Given the description of an element on the screen output the (x, y) to click on. 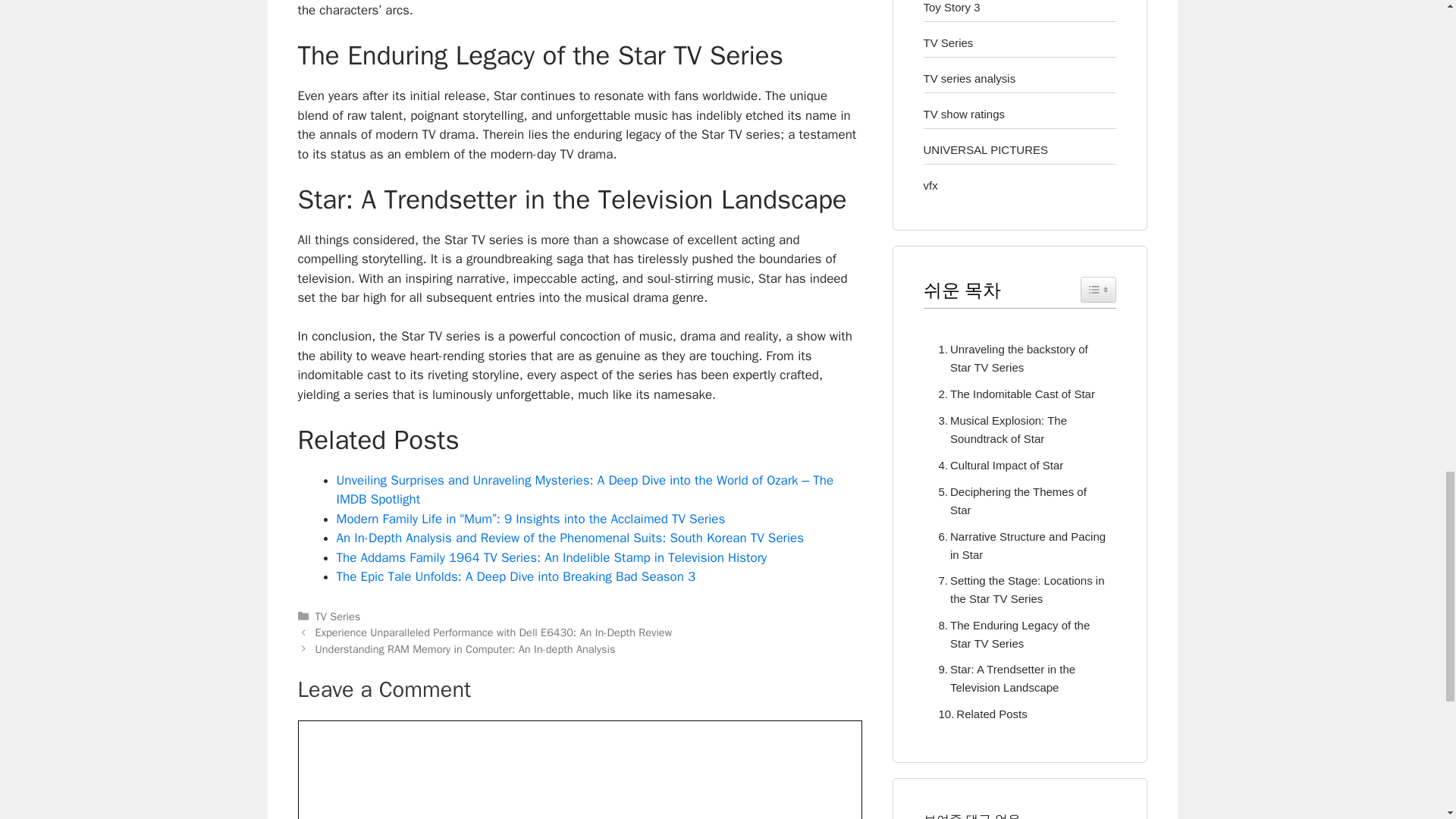
The Indomitable Cast of Star (1012, 393)
Unraveling the backstory of Star TV Series (1019, 358)
Musical Explosion: The Soundtrack of Star (1019, 429)
Cultural Impact of Star (997, 465)
TV Series (338, 616)
Understanding RAM Memory in Computer: An In-depth Analysis (465, 649)
